Given the description of an element on the screen output the (x, y) to click on. 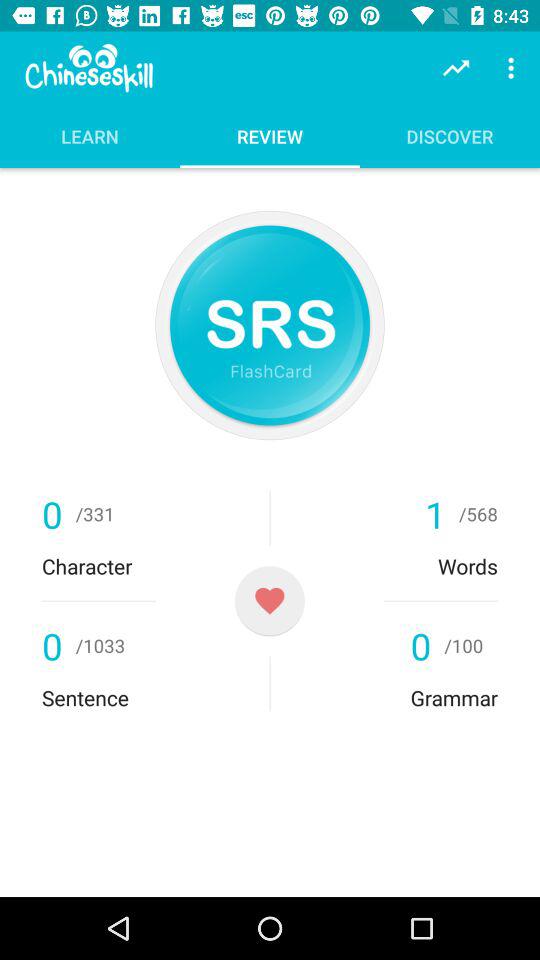
like (269, 600)
